Given the description of an element on the screen output the (x, y) to click on. 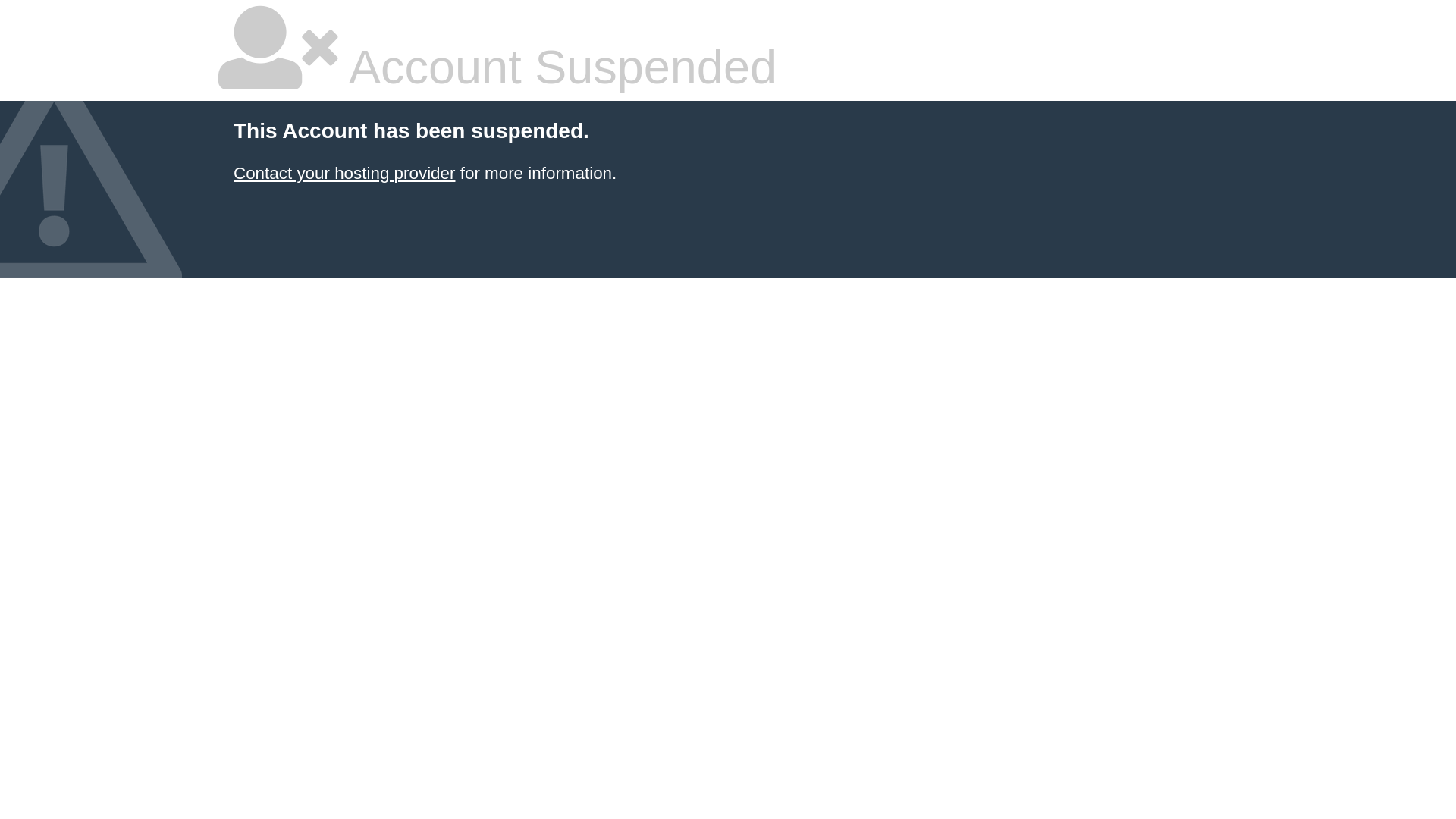
Contact your hosting provider Element type: text (344, 172)
